Given the description of an element on the screen output the (x, y) to click on. 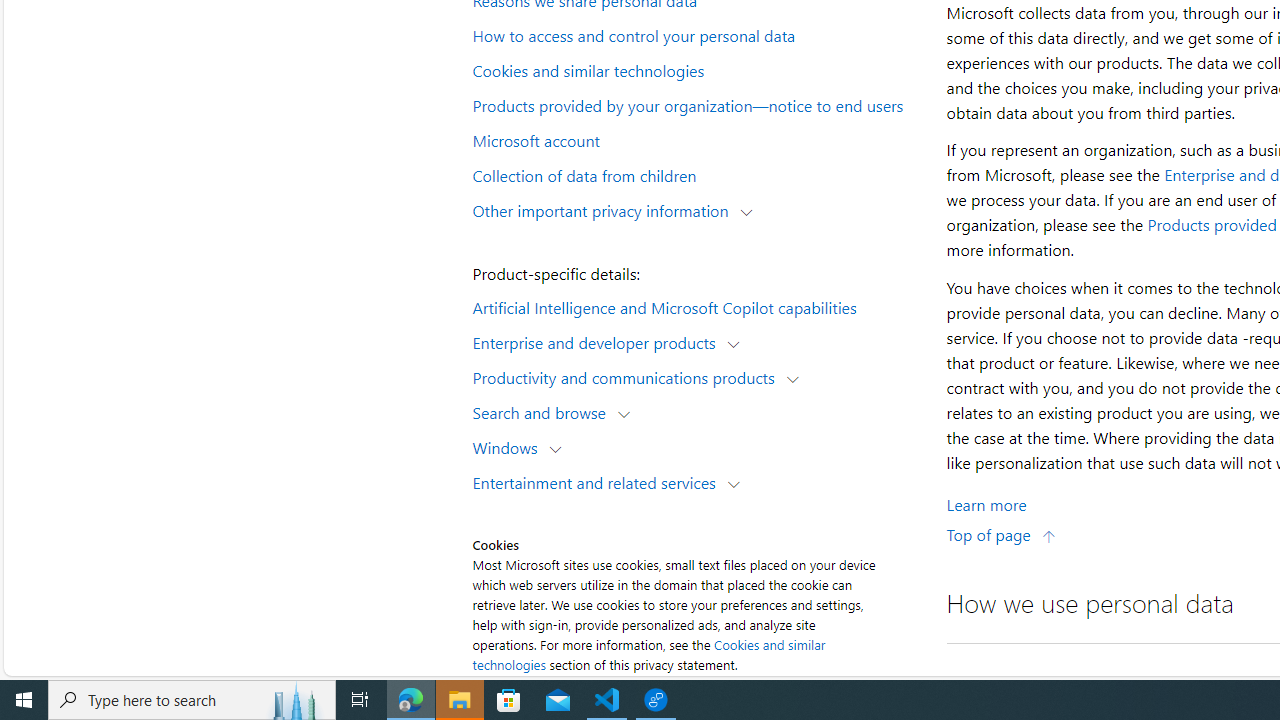
Top of page (1001, 534)
Artificial Intelligence and Microsoft Copilot capabilities (696, 306)
Cookies and similar technologies (696, 69)
Search and browse (543, 412)
Entertainment and related services (598, 481)
Enterprise and developer products (598, 341)
Windows (509, 446)
Other important privacy information (605, 209)
Productivity and communications products (628, 376)
Collection of data from children (696, 174)
Learn More about Personal data we collect (985, 504)
Cookies and similar technologies (648, 654)
How to access and control your personal data (696, 35)
